Given the description of an element on the screen output the (x, y) to click on. 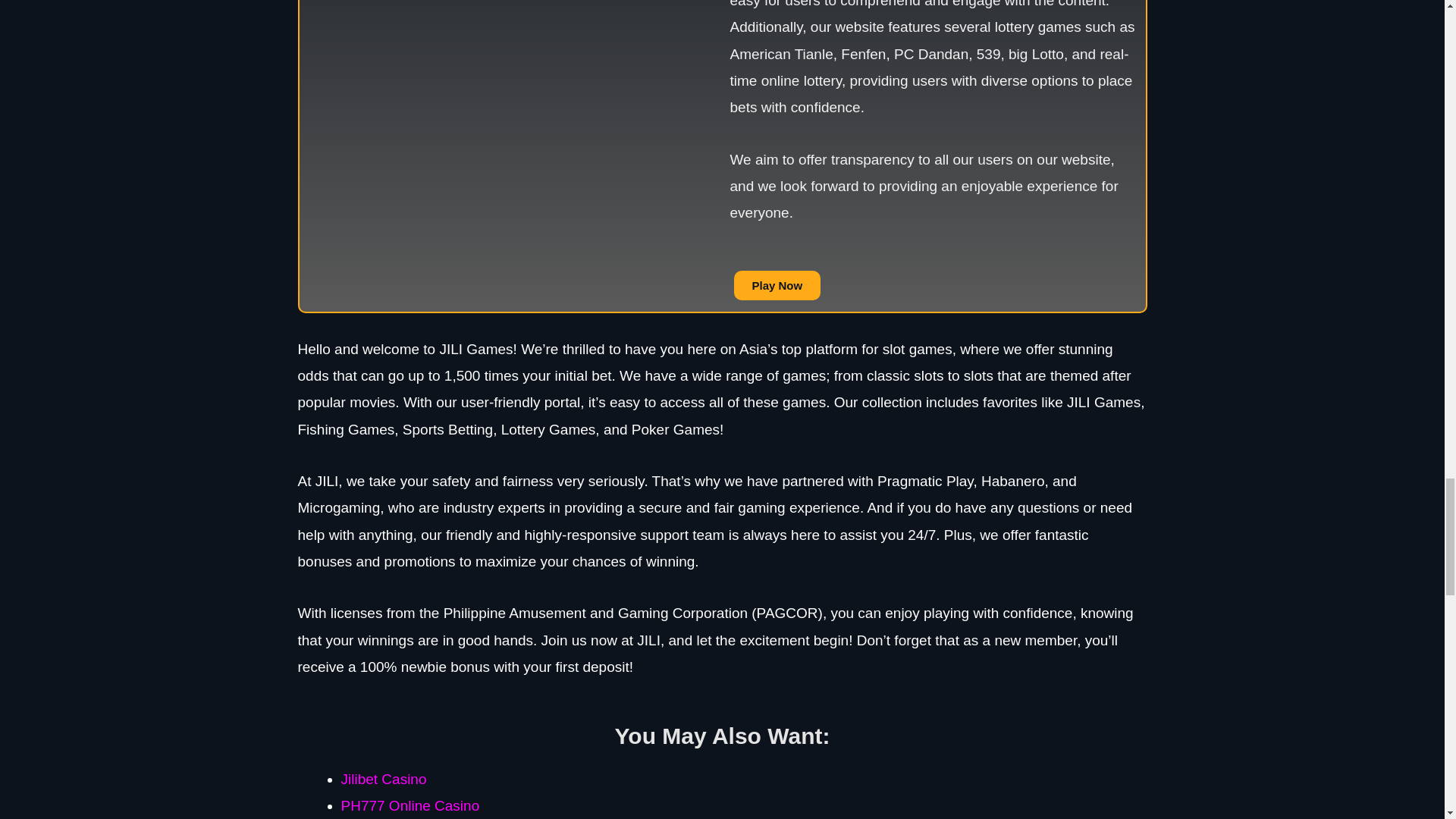
PH777 Online Casino (410, 805)
Play Now (777, 285)
Jilibet Casino (383, 779)
